Given the description of an element on the screen output the (x, y) to click on. 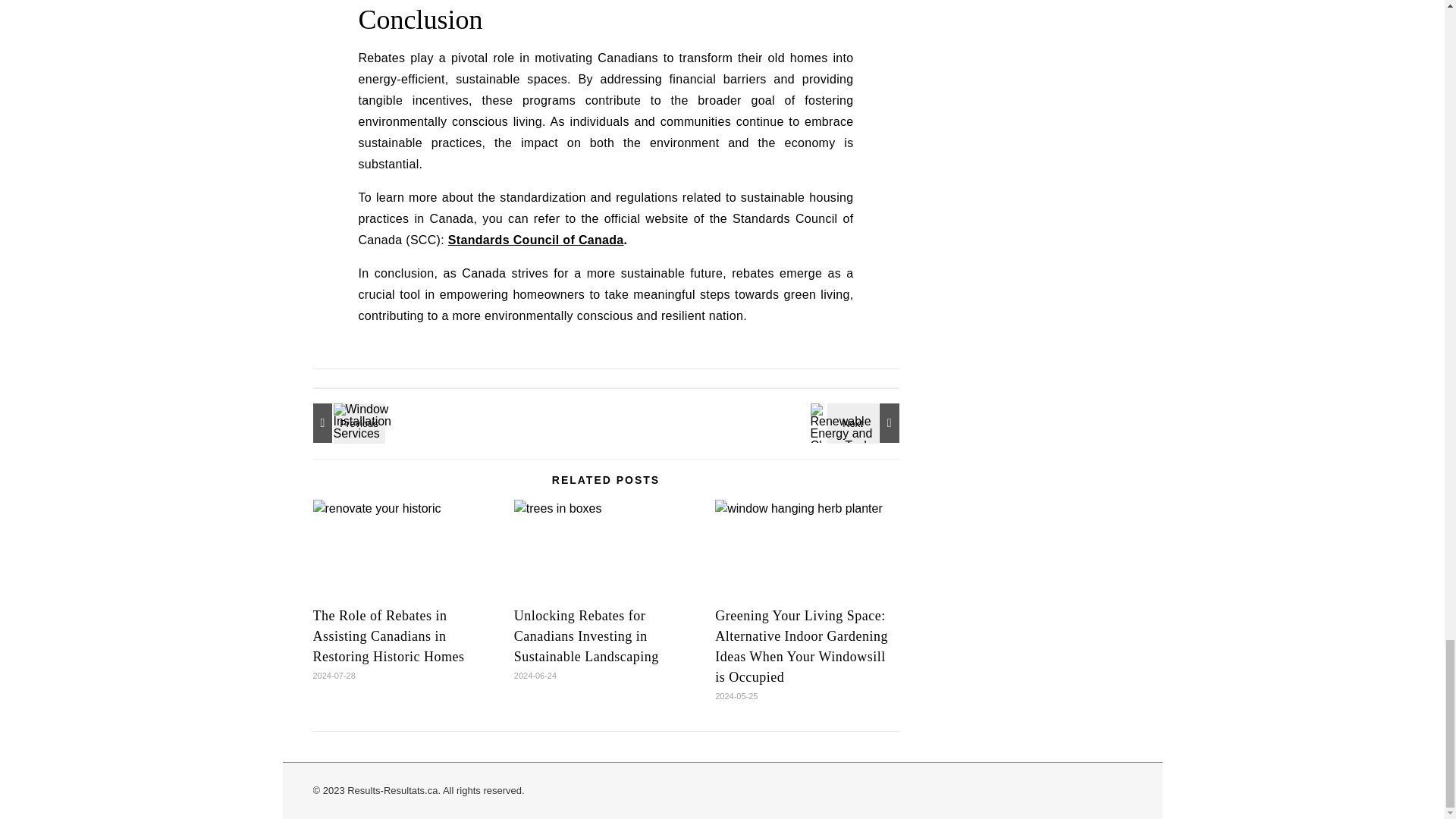
Standards Council of Canada (536, 239)
